Given the description of an element on the screen output the (x, y) to click on. 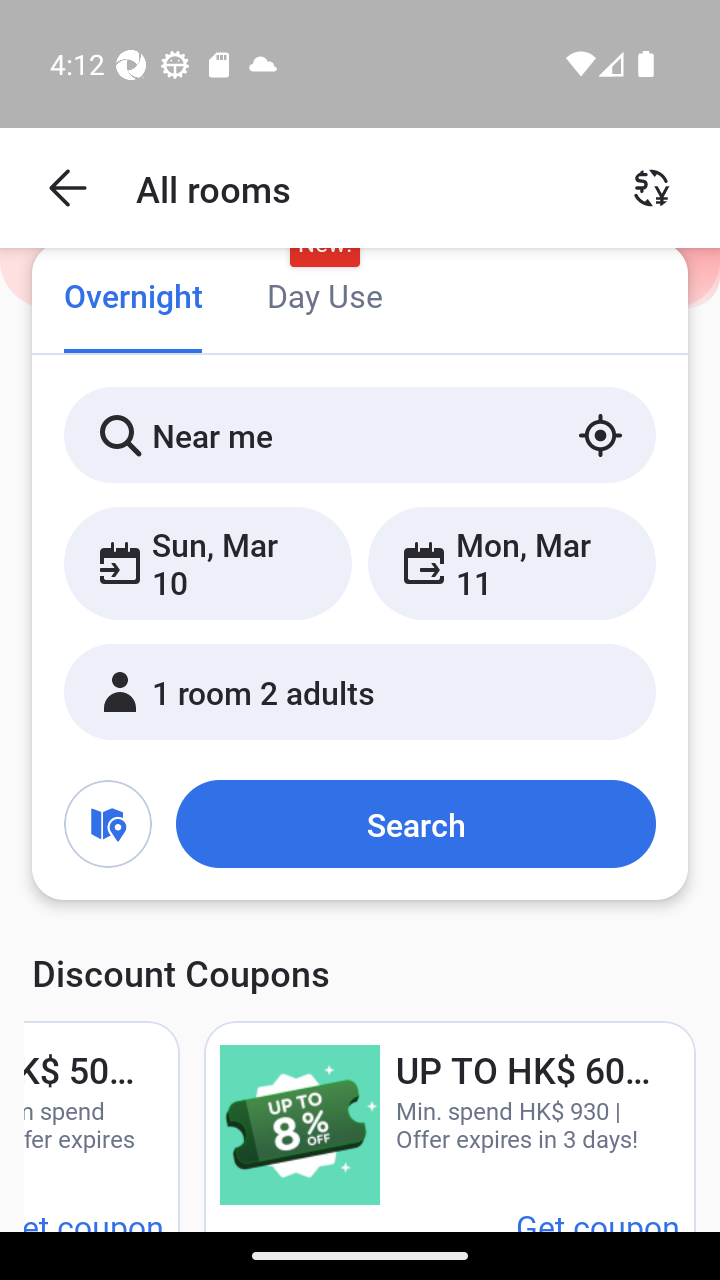
Day Use (324, 298)
Near me (359, 434)
Sun, Mar 10 (208, 562)
Mon, Mar 11 (511, 562)
1 room 2 adults (359, 691)
Search (415, 823)
